Given the description of an element on the screen output the (x, y) to click on. 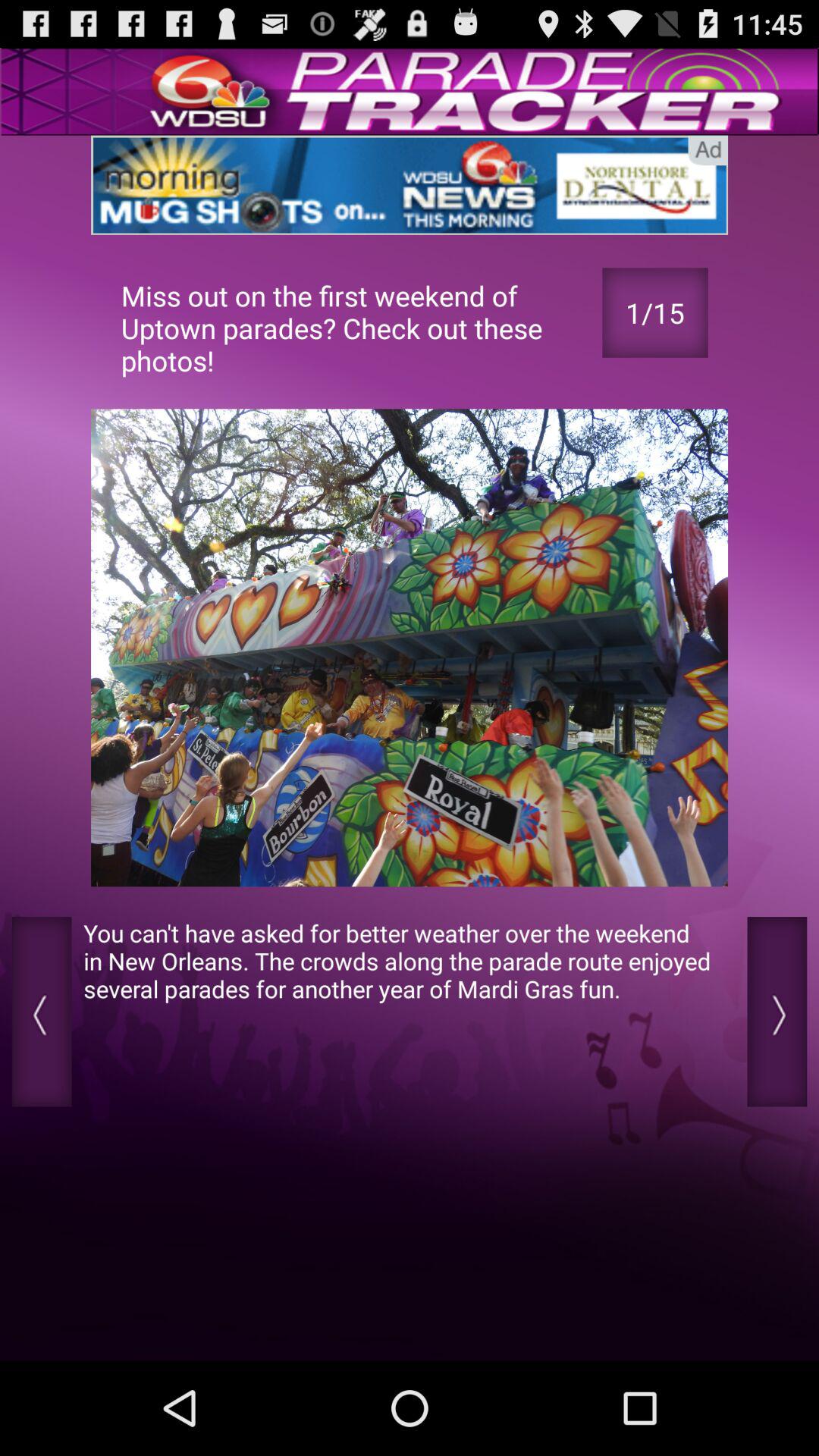
go to next option (777, 1011)
